Given the description of an element on the screen output the (x, y) to click on. 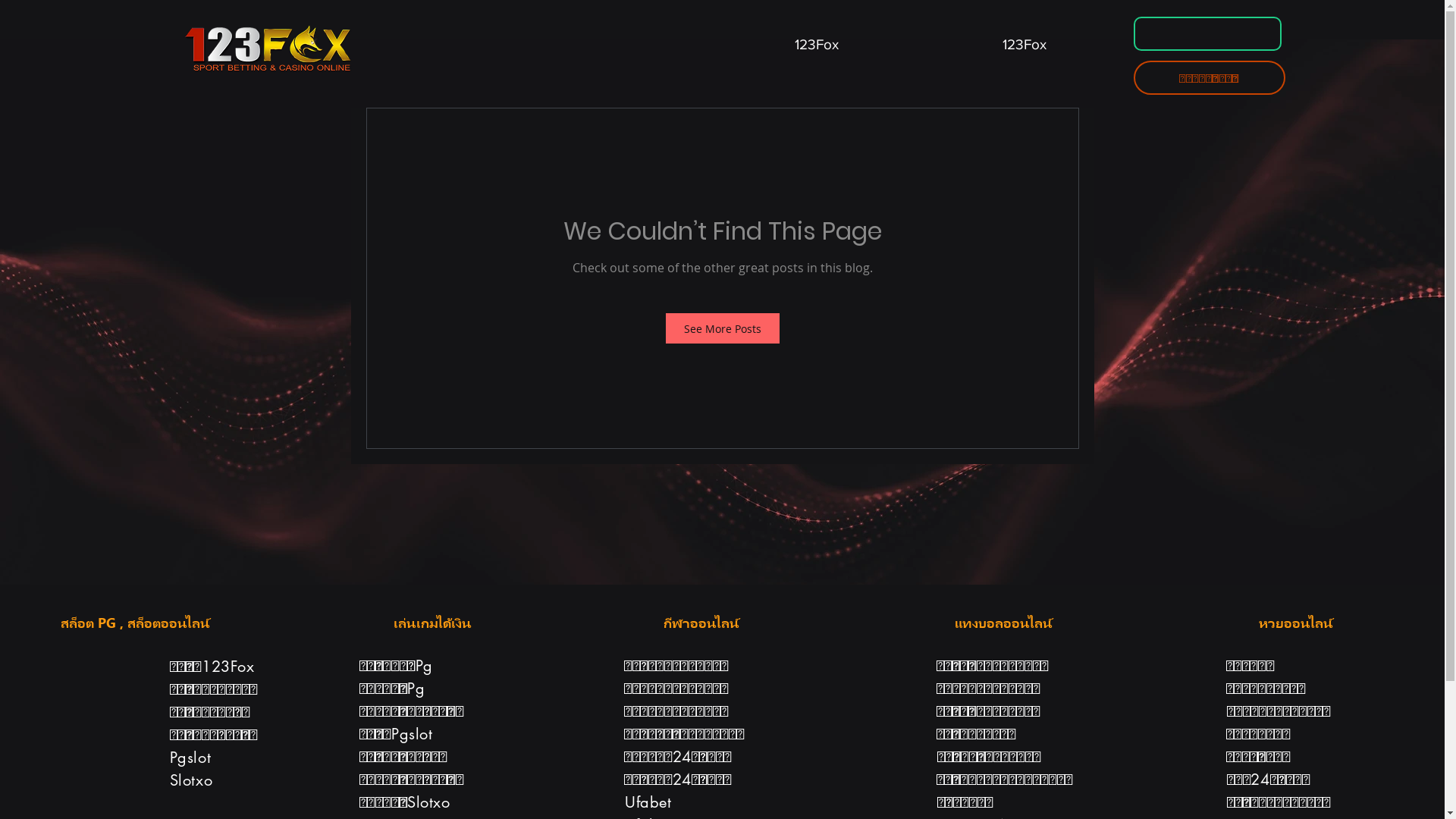
Pgslot Element type: text (190, 757)
Ufabet Element type: text (647, 801)
See More Posts Element type: text (722, 328)
123Fox Element type: text (1024, 37)
123Fox Element type: text (816, 37)
Slotxo Element type: text (191, 779)
